Given the description of an element on the screen output the (x, y) to click on. 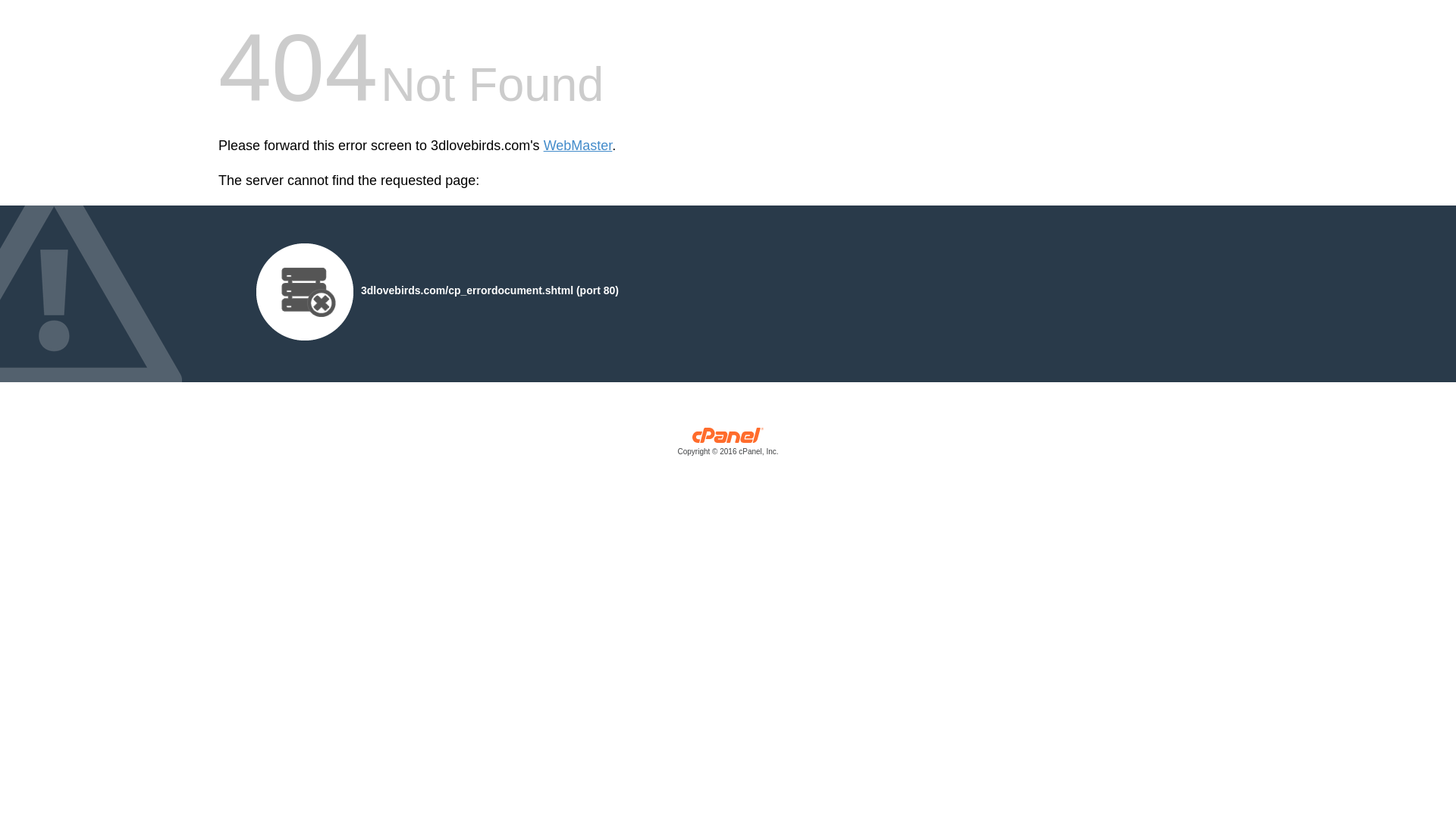
WebMaster Element type: text (577, 145)
